Given the description of an element on the screen output the (x, y) to click on. 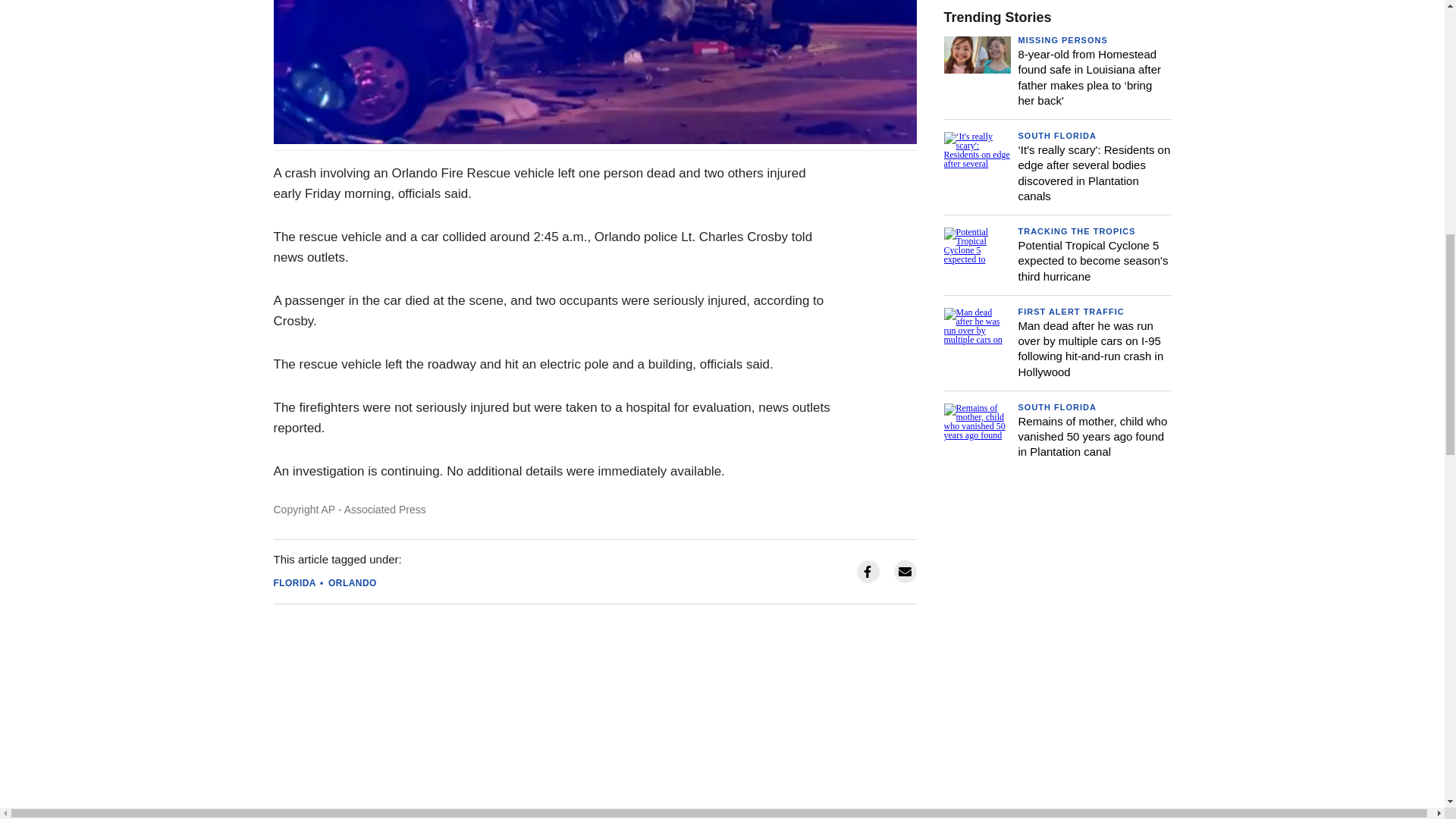
FLORIDA (294, 583)
MISSING PERSONS (1061, 40)
ORLANDO (353, 583)
